Given the description of an element on the screen output the (x, y) to click on. 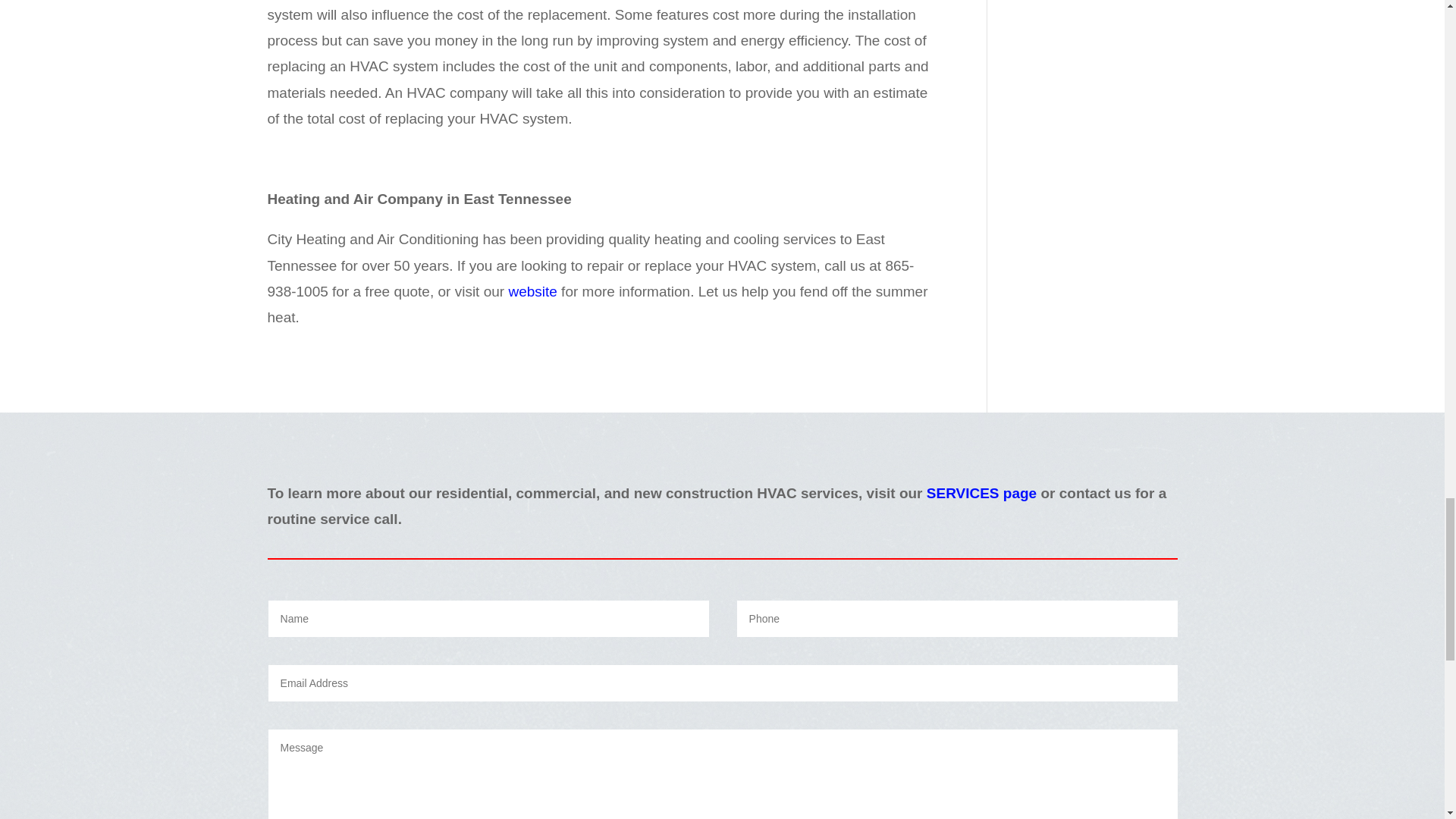
website (532, 291)
Minimum length: 7 characters. Maximum length: 14 characters. (956, 618)
SERVICES page (981, 493)
services page (981, 493)
